Given the description of an element on the screen output the (x, y) to click on. 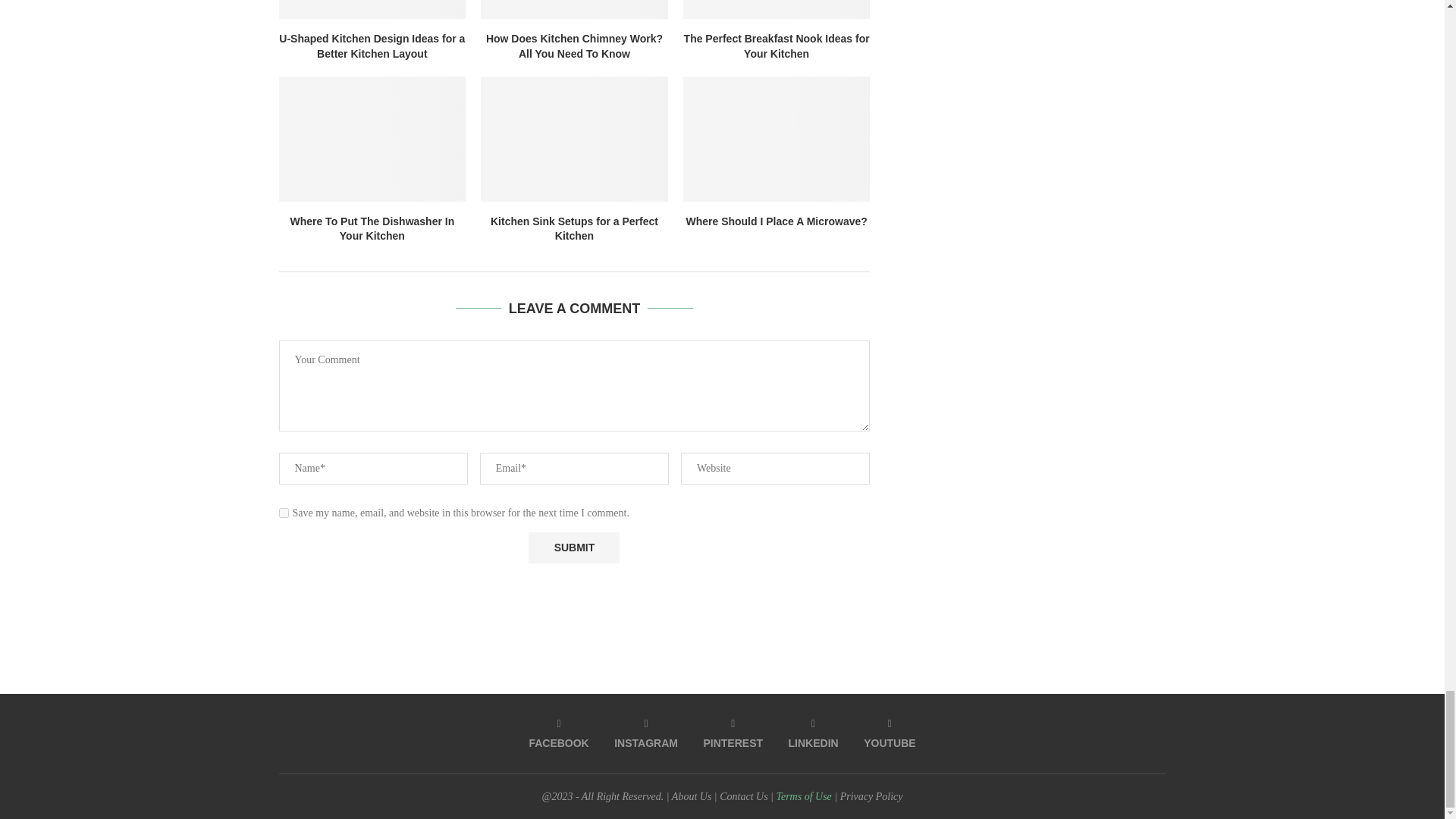
The Perfect Breakfast Nook Ideas for Your Kitchen (776, 9)
Submit (574, 547)
How Does Kitchen Chimney Work? All You Need To Know (574, 9)
yes (283, 512)
U-Shaped Kitchen Design Ideas for a Better Kitchen Layout (372, 9)
Where To Put The Dishwasher In Your Kitchen (372, 138)
Kitchen Sink Setups for a Perfect Kitchen (574, 138)
